Given the description of an element on the screen output the (x, y) to click on. 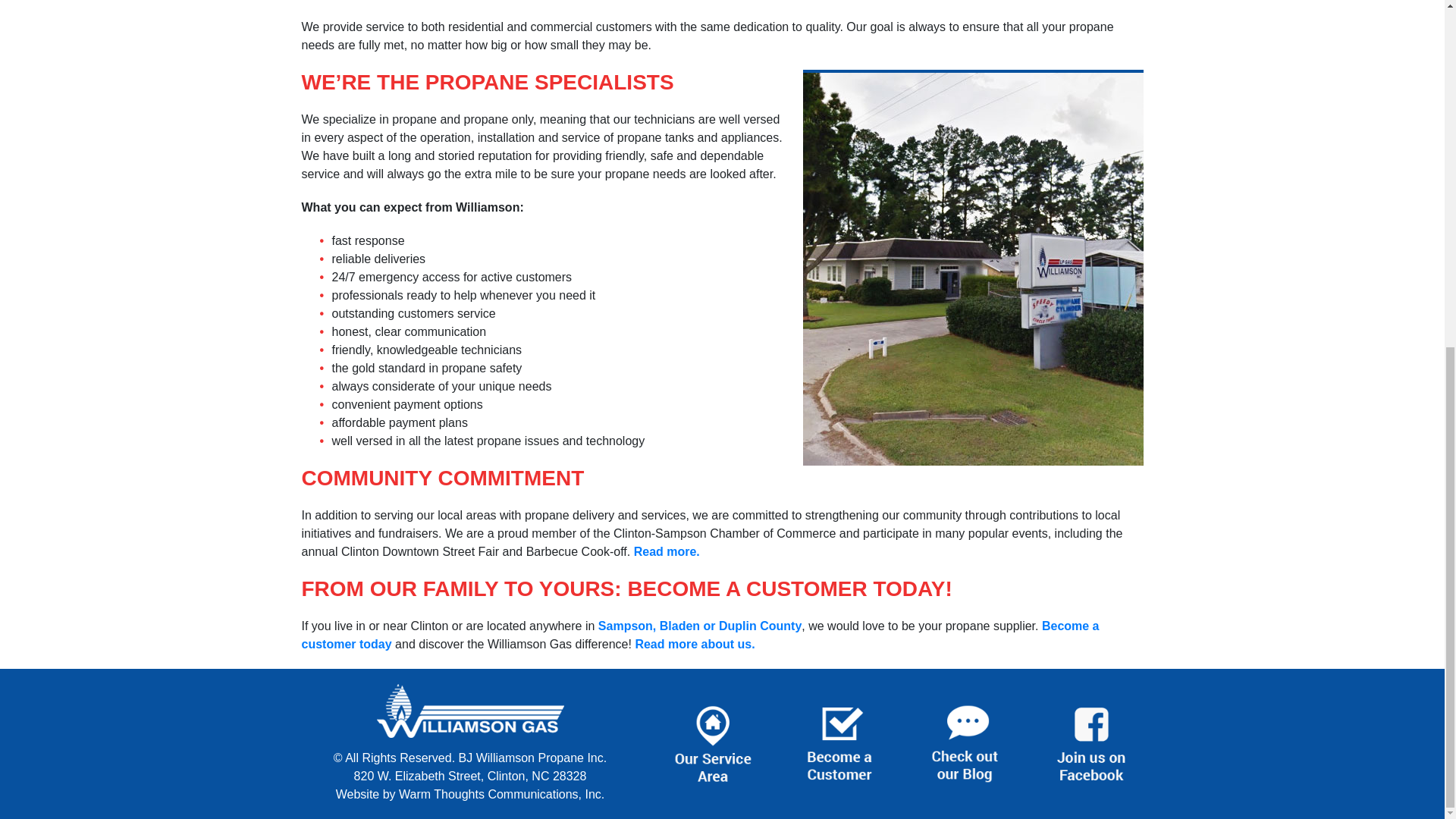
blog (965, 742)
become a customer (839, 742)
Read more about us. (694, 644)
community (666, 551)
Sampson, Bladen or Duplin County (700, 625)
facebook (1090, 742)
history (694, 644)
service area (712, 742)
Become a customer today (700, 634)
service area (700, 625)
become a customer (700, 634)
Read more. (666, 551)
